Given the description of an element on the screen output the (x, y) to click on. 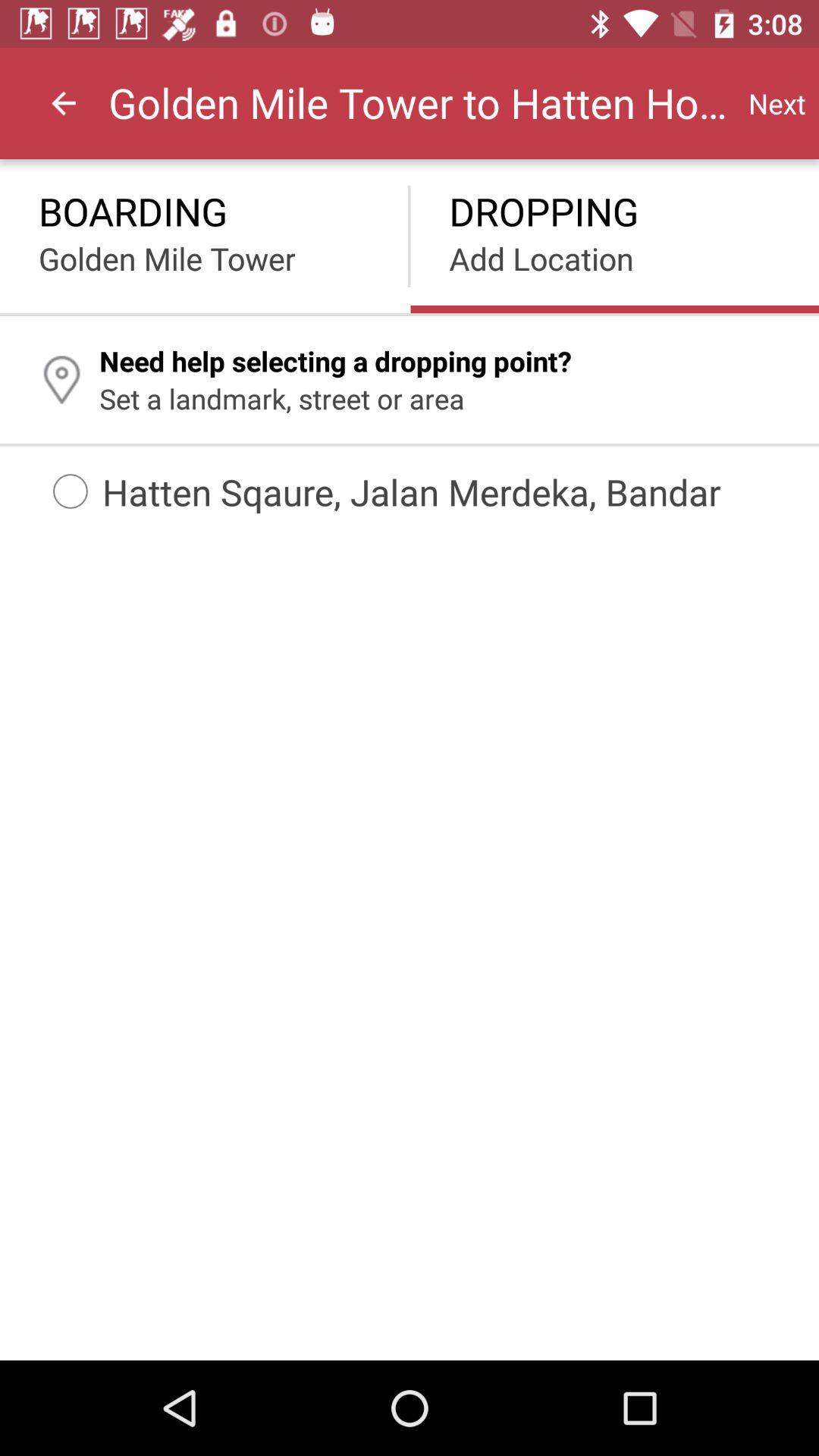
go back (63, 103)
